Given the description of an element on the screen output the (x, y) to click on. 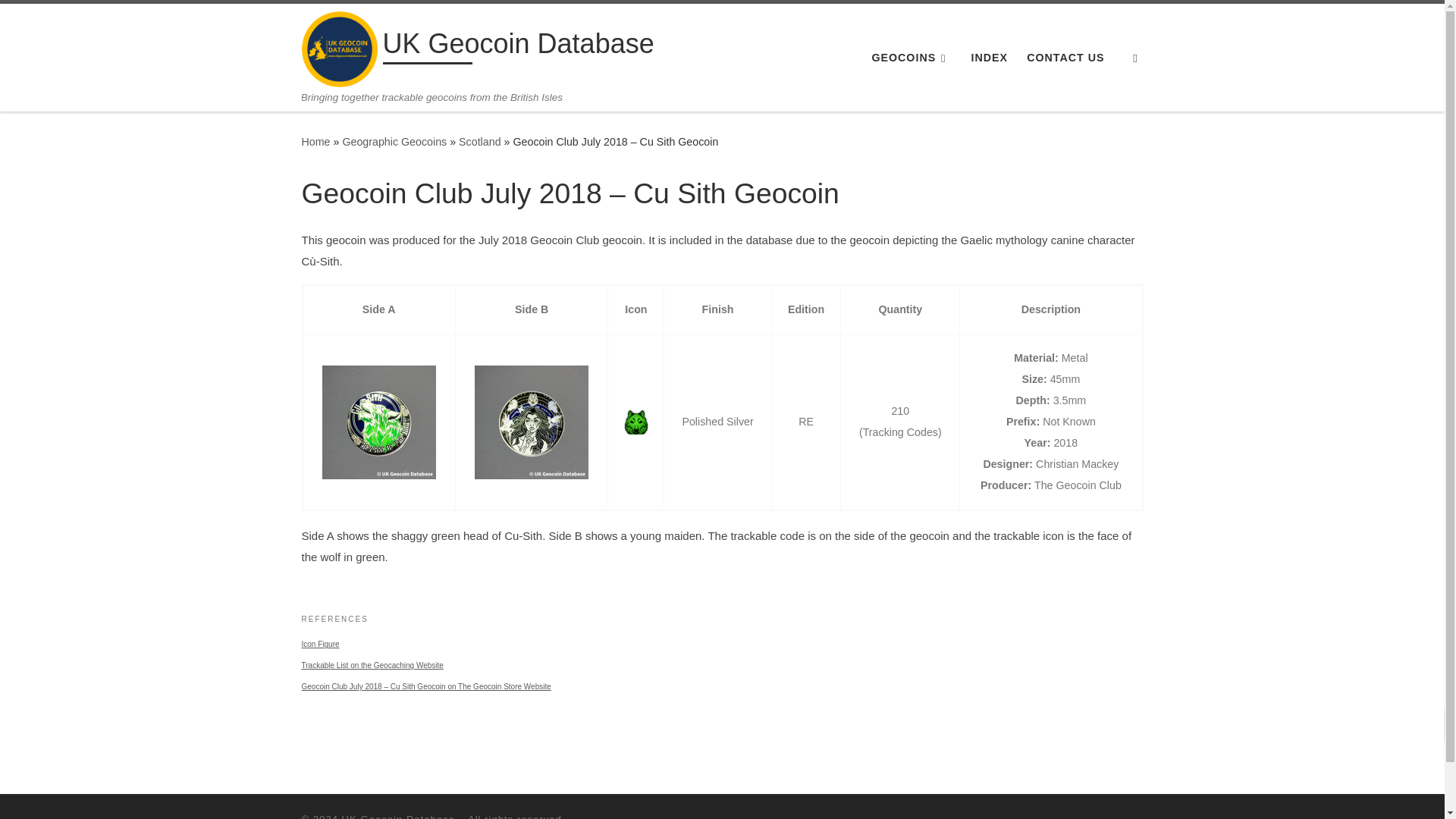
Skip to content (60, 20)
Scotland (479, 141)
UK Geocoin Database (517, 47)
CONTACT US (1065, 57)
Search (1135, 58)
Geographic Geocoins (394, 141)
INDEX (988, 57)
GEOCOINS (911, 57)
UK Geocoin Database (315, 141)
UK Geocoin Database (398, 816)
